Given the description of an element on the screen output the (x, y) to click on. 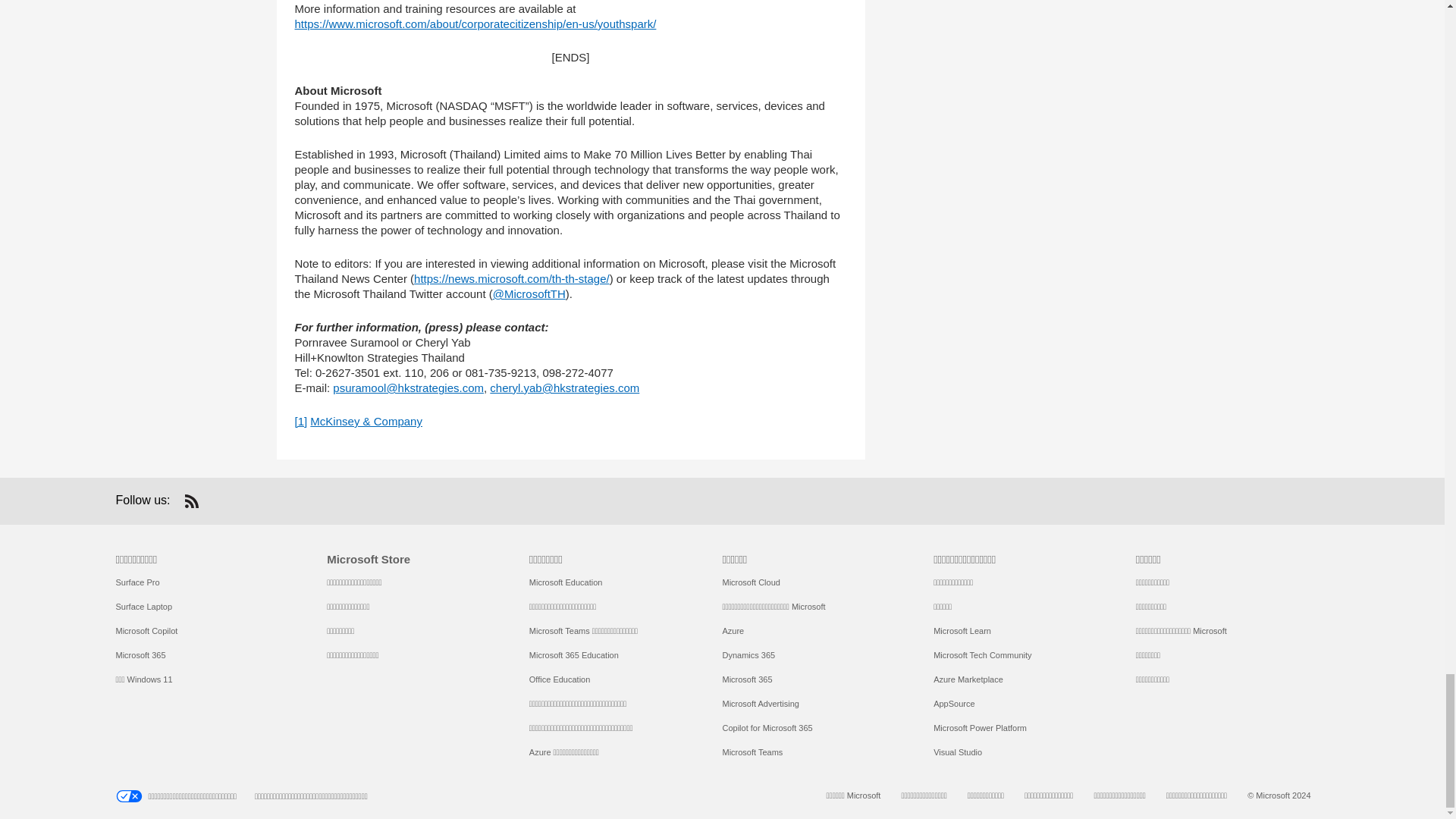
RSS Subscription (191, 500)
